Given the description of an element on the screen output the (x, y) to click on. 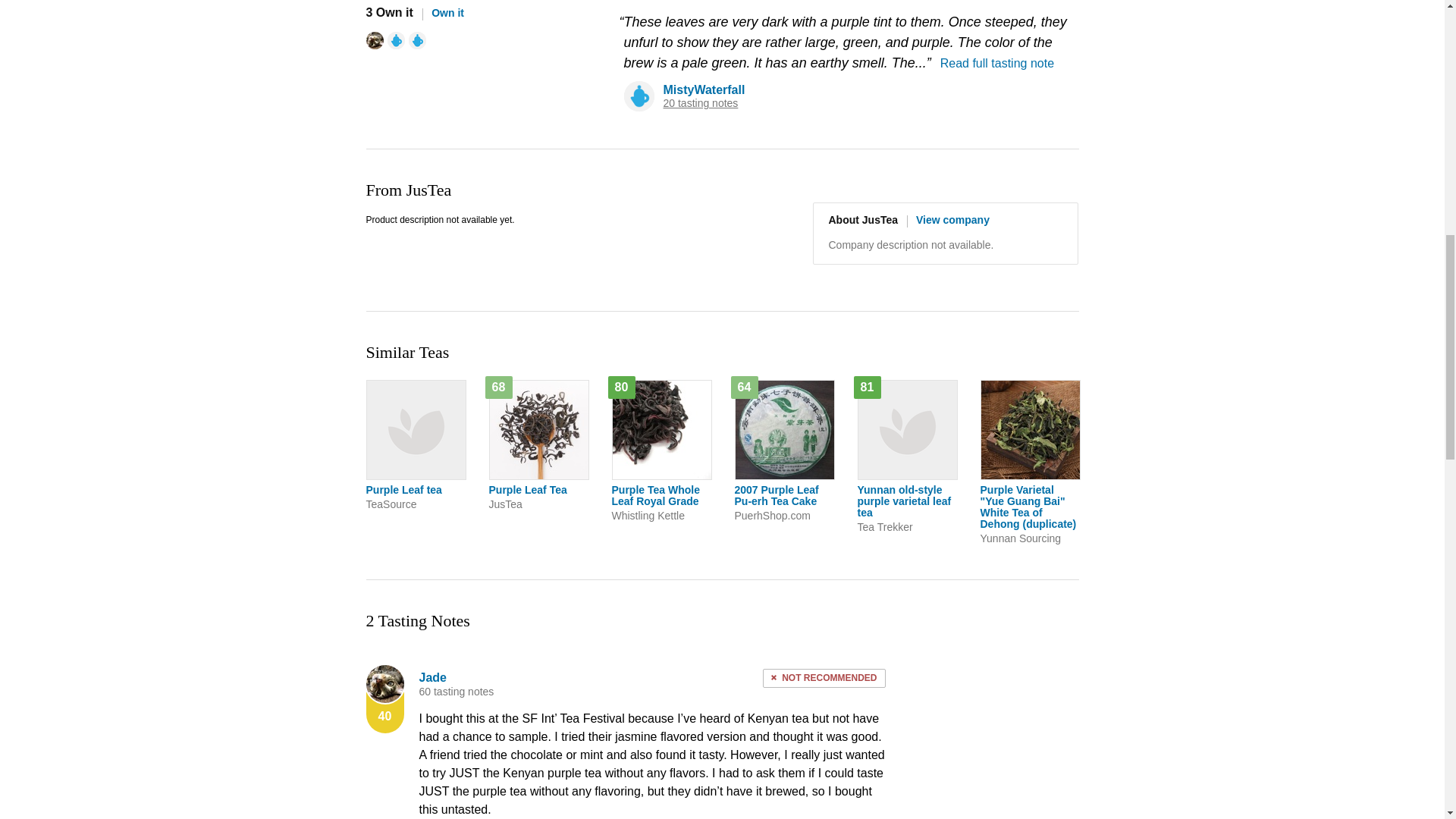
MistyWaterfall (703, 89)
20 tasting notes (700, 102)
View company (948, 219)
Read full tasting note (997, 62)
Own it (443, 12)
